Given the description of an element on the screen output the (x, y) to click on. 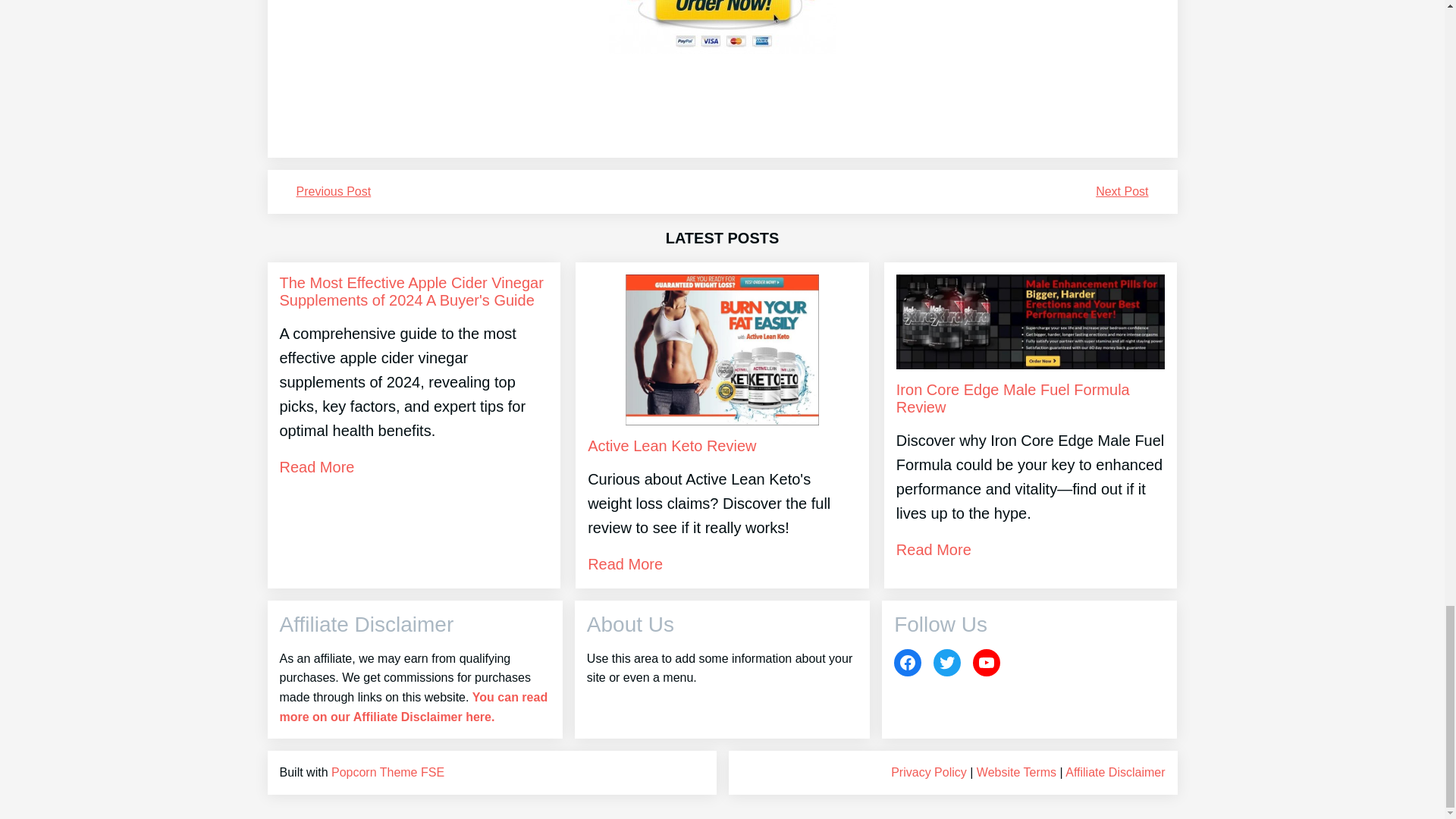
You can read more on our Affiliate Disclaimer here. (413, 707)
Facebook (907, 662)
YouTube (986, 662)
Read More (625, 564)
Twitter (946, 662)
Iron Core Edge Male Fuel Formula Review (1031, 398)
Next Post (1122, 191)
Read More (933, 549)
Read More (316, 467)
Active Lean Keto Review (671, 446)
Previous Post (333, 191)
